Given the description of an element on the screen output the (x, y) to click on. 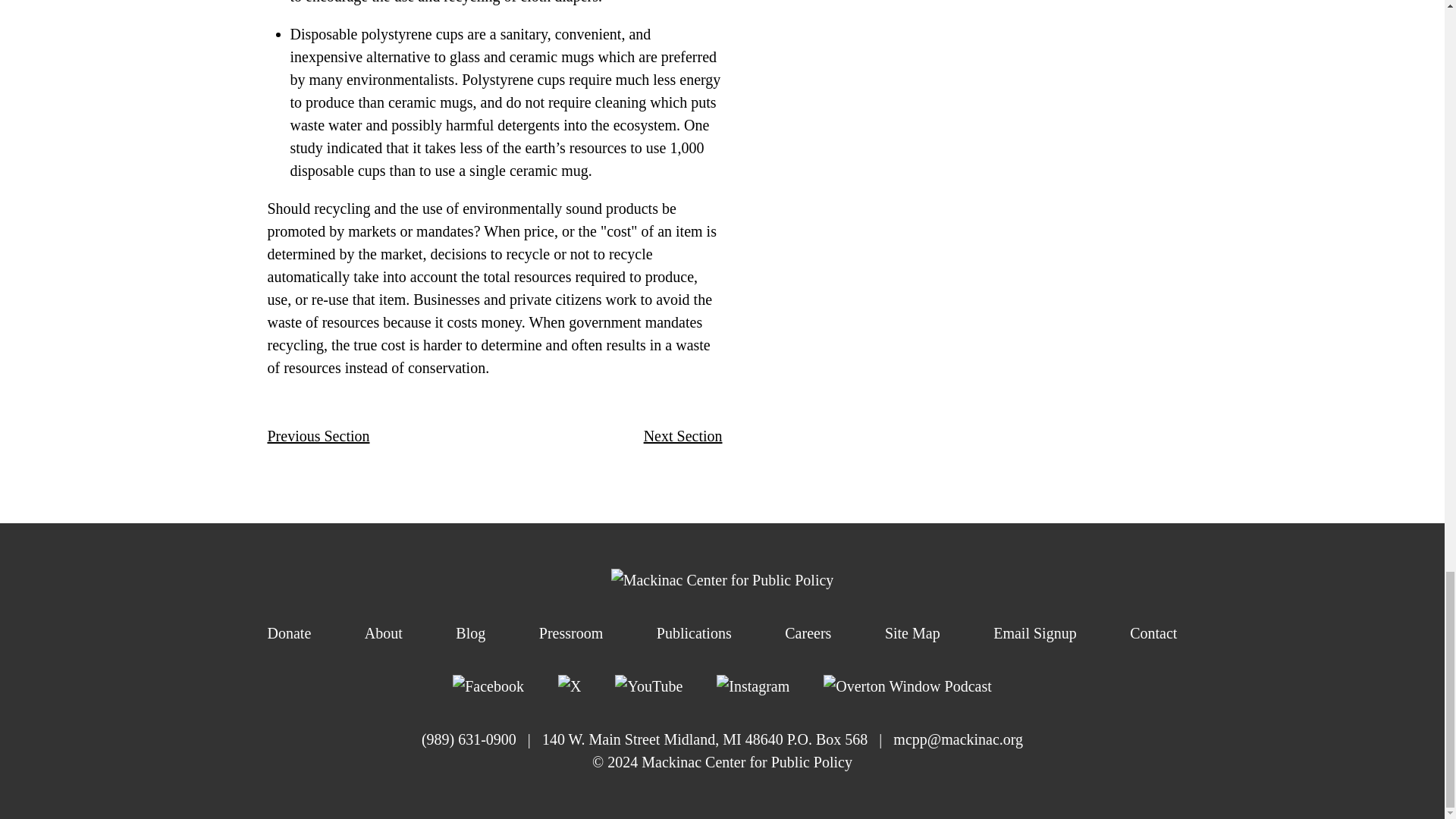
Donate (288, 632)
Pressroom (570, 632)
Careers (807, 632)
About (384, 632)
Next Section (682, 436)
Site Map (912, 632)
Previous Section (317, 436)
Contact (1152, 632)
Publications (694, 632)
Blog (469, 632)
